Given the description of an element on the screen output the (x, y) to click on. 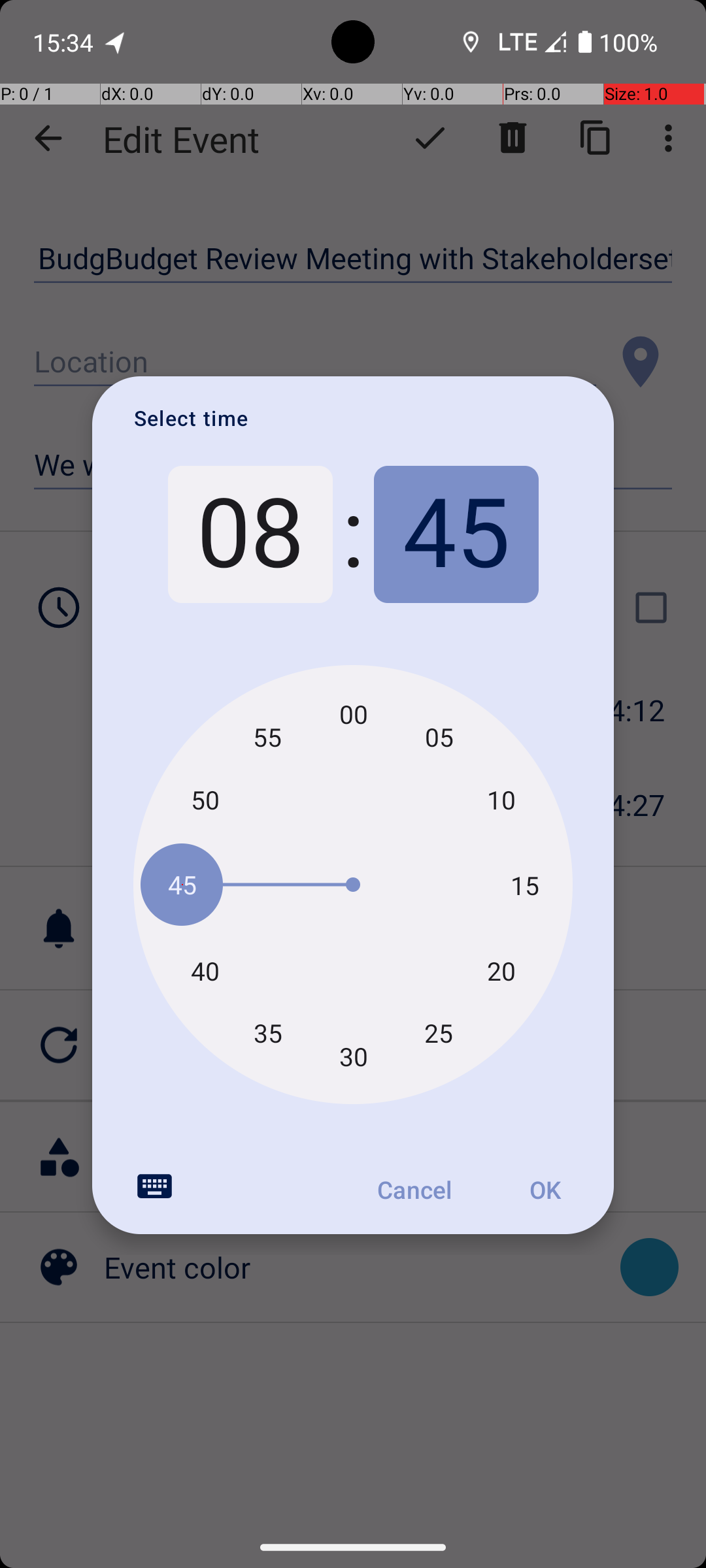
08 Element type: android.view.View (250, 534)
